Given the description of an element on the screen output the (x, y) to click on. 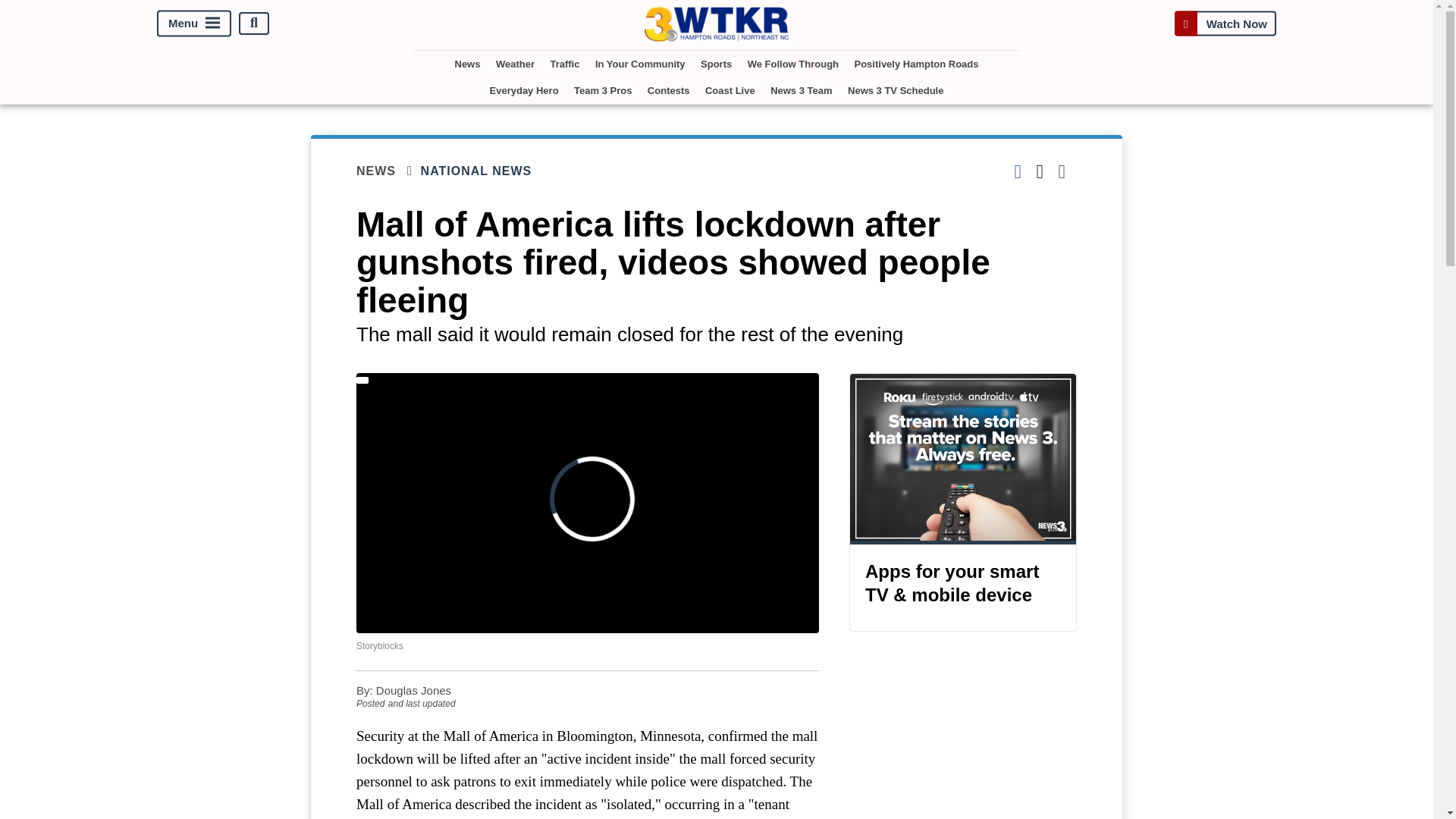
Watch Now (1224, 22)
Menu (194, 22)
